Given the description of an element on the screen output the (x, y) to click on. 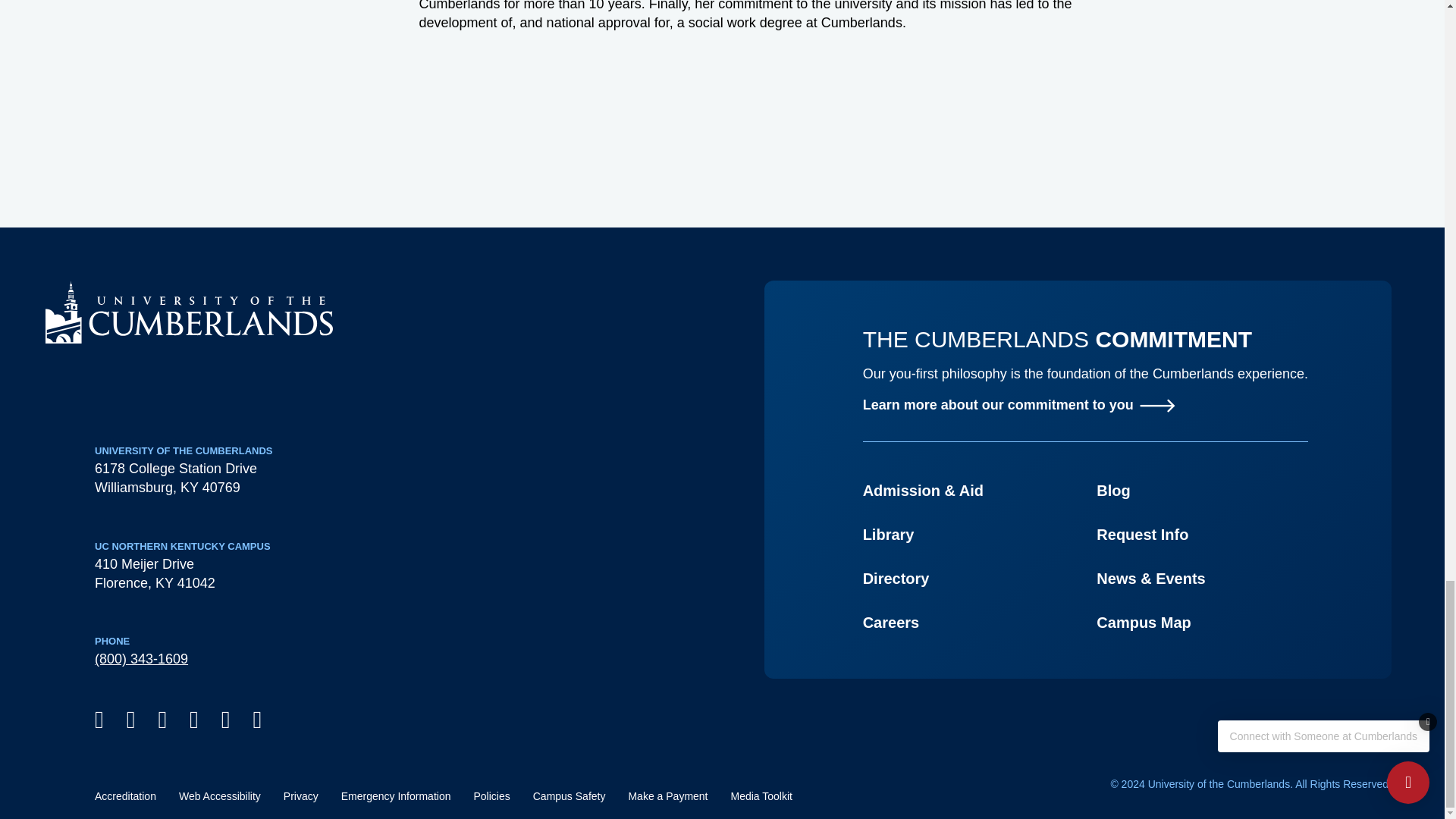
Campus Map (1143, 622)
